Given the description of an element on the screen output the (x, y) to click on. 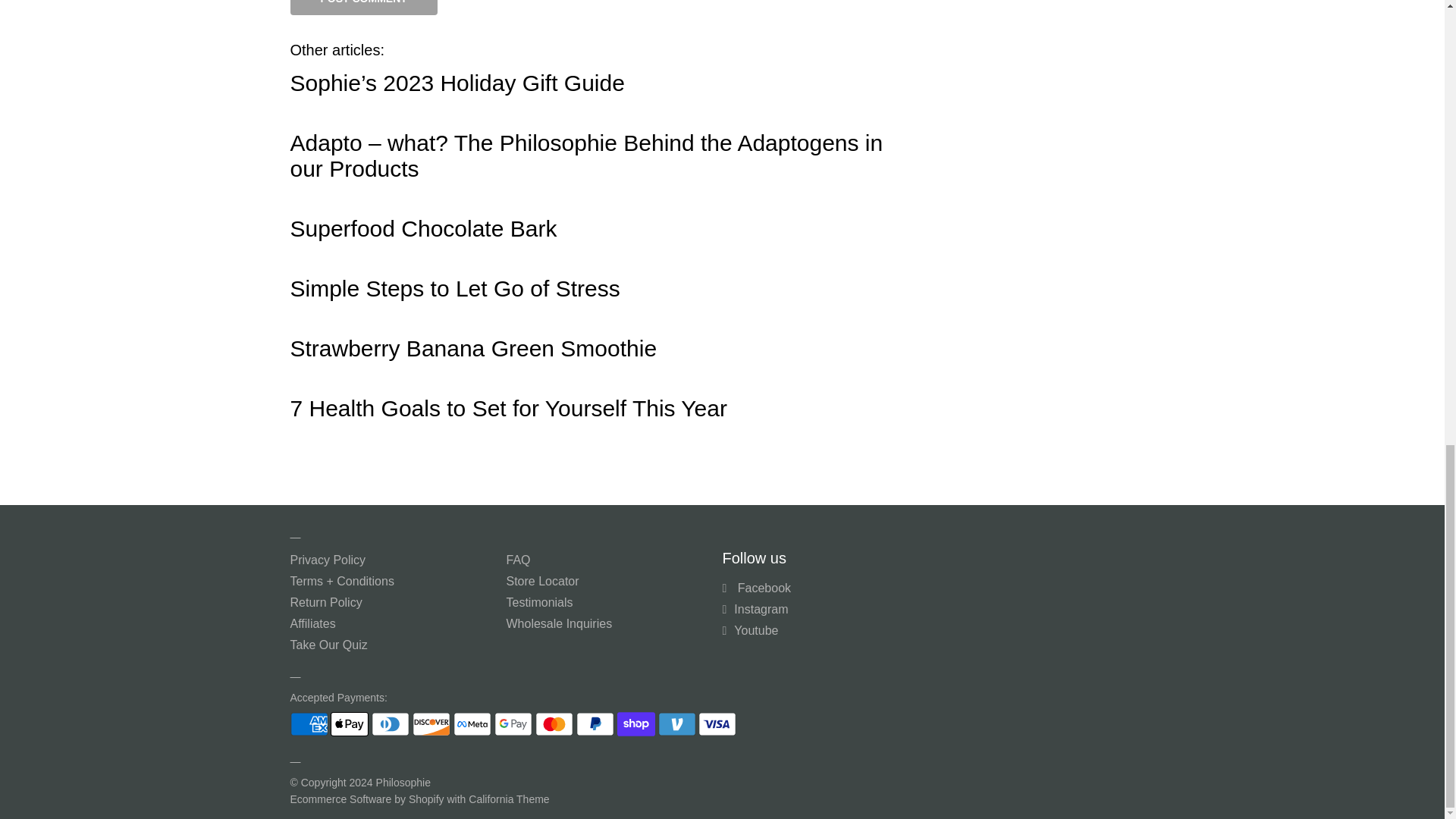
Shop Pay (636, 723)
Post comment (362, 7)
Meta Pay (472, 723)
Discover (430, 723)
Venmo (676, 723)
Apple Pay (349, 723)
Visa (717, 723)
American Express (308, 723)
Google Pay (513, 723)
Post comment (362, 7)
Mastercard (554, 723)
Diners Club (390, 723)
PayPal (595, 723)
